Given the description of an element on the screen output the (x, y) to click on. 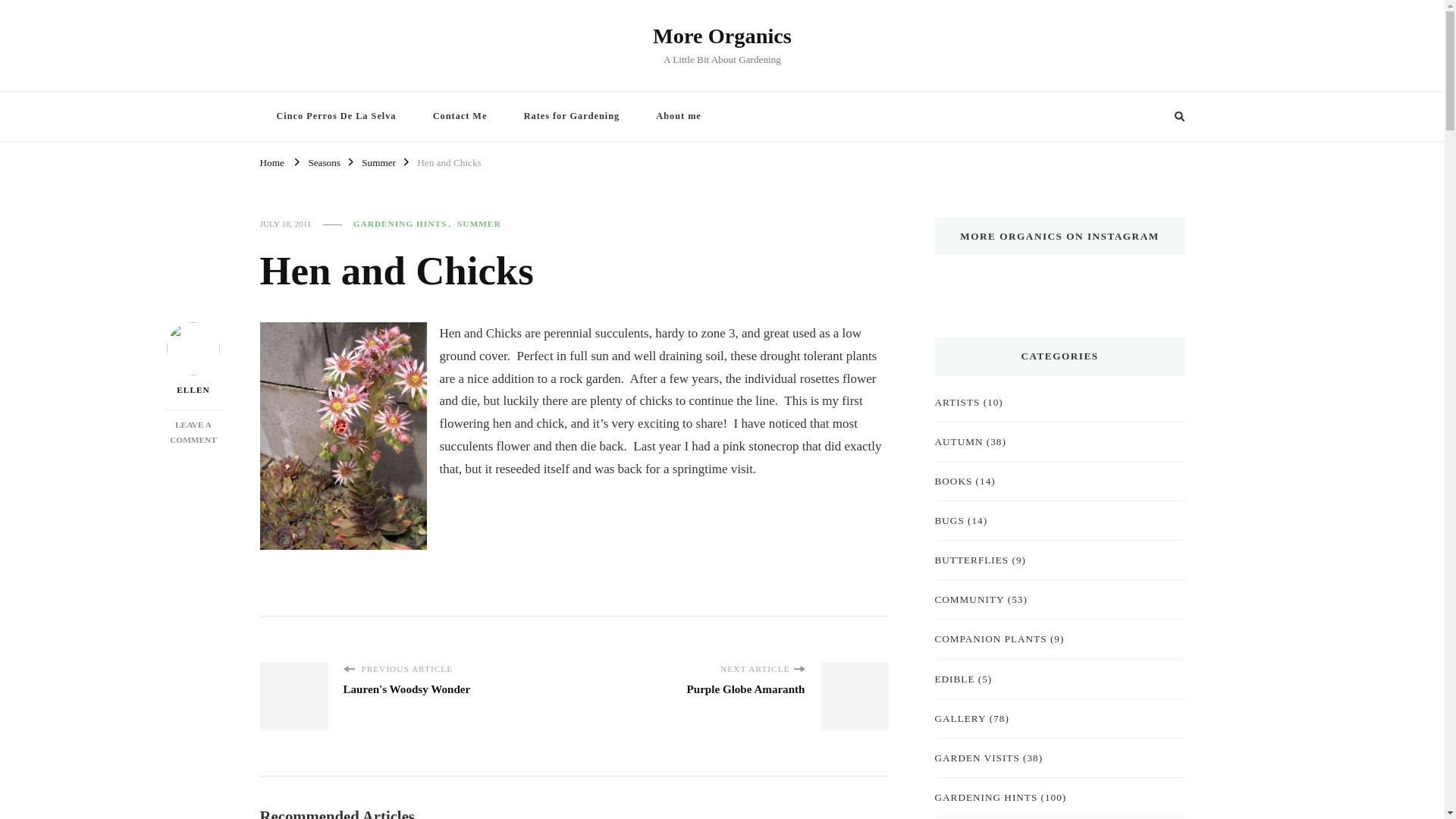
More Organics (722, 35)
ARTISTS (956, 401)
Hen and Chicks (193, 432)
Contact Me (448, 161)
Rates for Gardening (459, 115)
Search (571, 115)
Cinco Perros De La Selva (1151, 117)
About me (335, 115)
Seasons (678, 115)
